Given the description of an element on the screen output the (x, y) to click on. 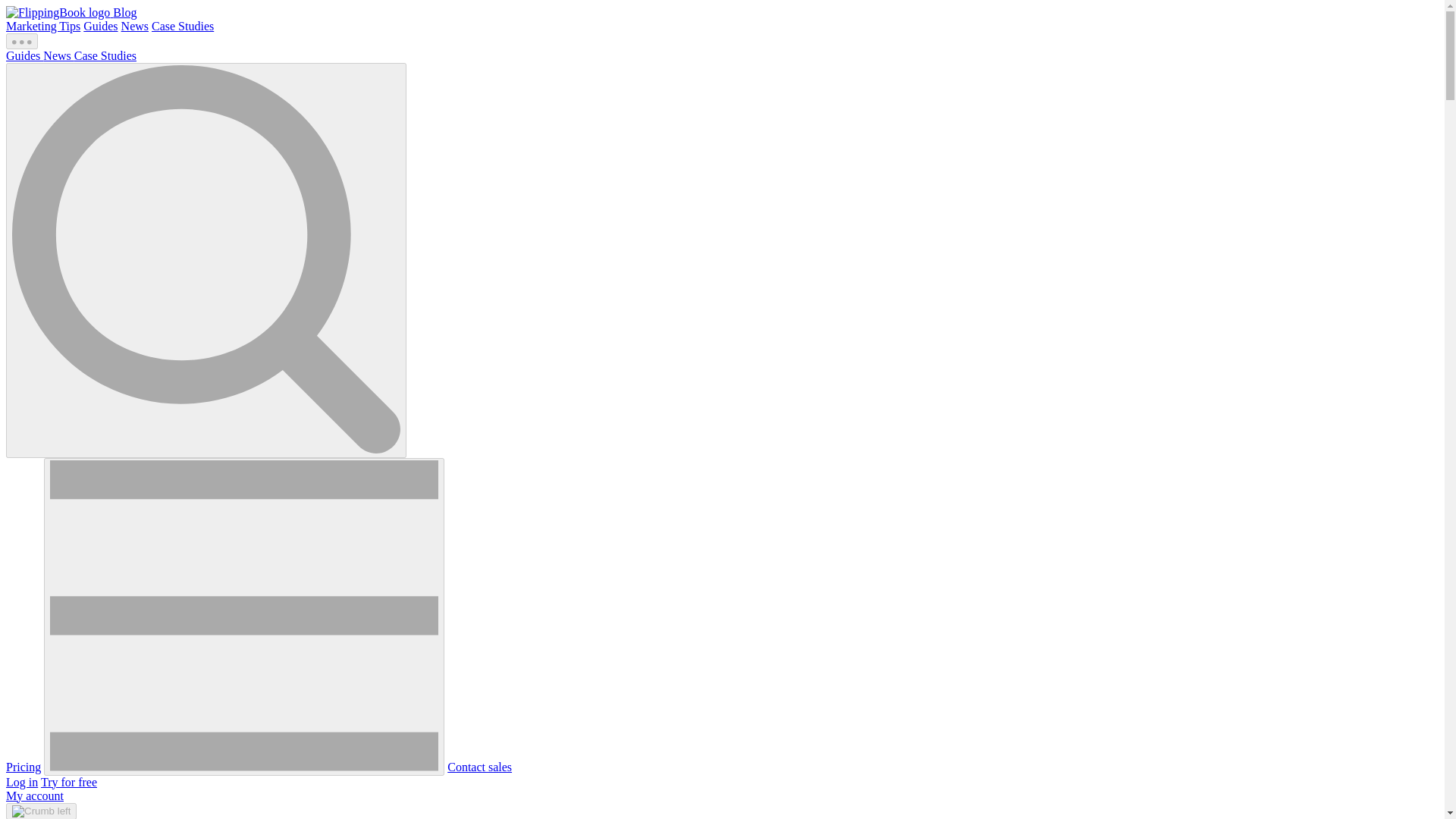
Marketing Tips (42, 25)
Guides (99, 25)
Case Studies (182, 25)
Blog (124, 11)
Pricing (22, 766)
Case Studies (105, 55)
Case Studies (182, 25)
Contact sales (479, 766)
